Given the description of an element on the screen output the (x, y) to click on. 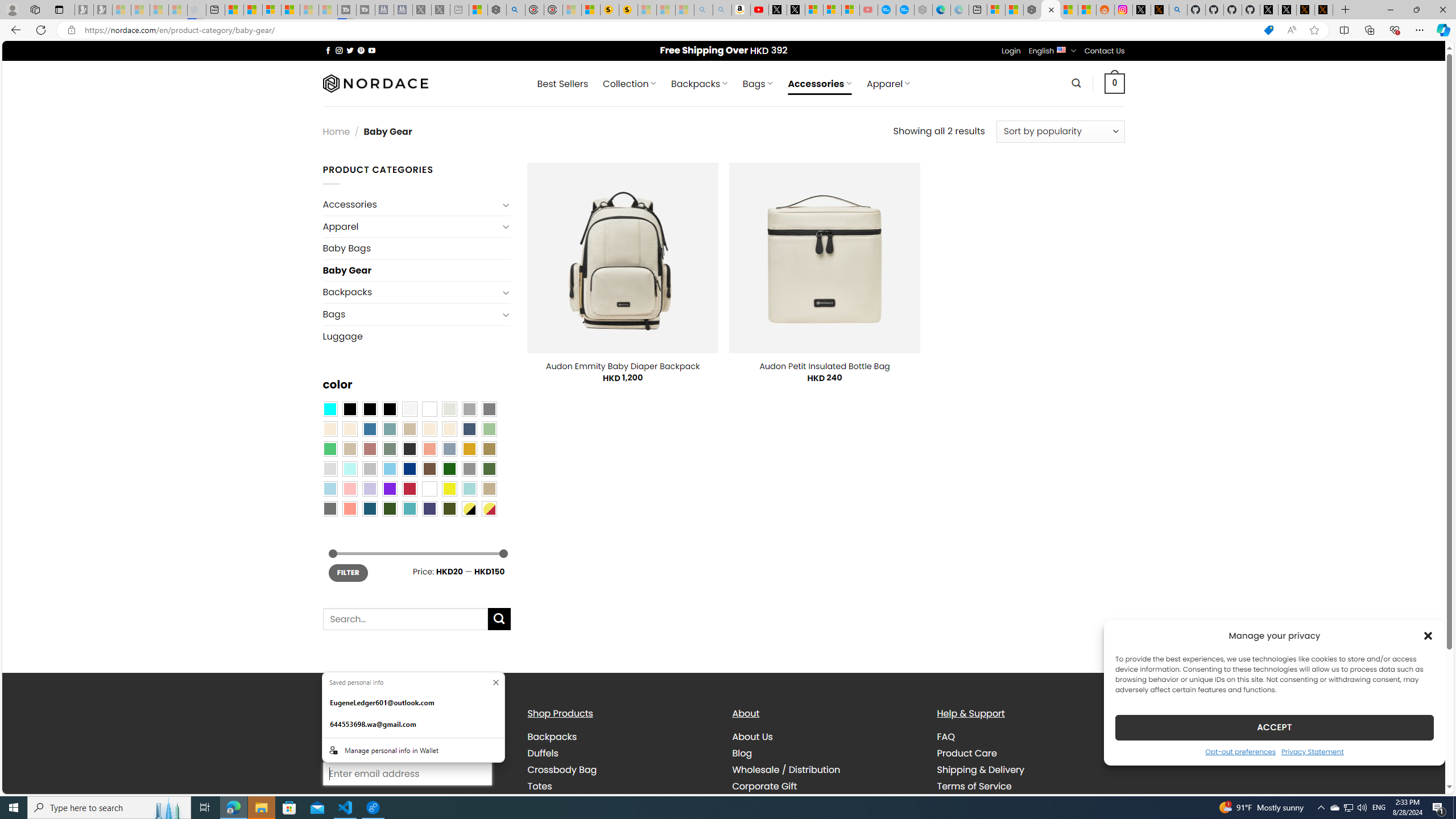
Nordace - Nordace has arrived Hong Kong - Sleeping (923, 9)
Search for: (404, 618)
Corporate Gift (764, 785)
Baby Gear (416, 270)
About Us (752, 736)
Light Purple (369, 488)
Duffels (543, 753)
Overview (271, 9)
